Given the description of an element on the screen output the (x, y) to click on. 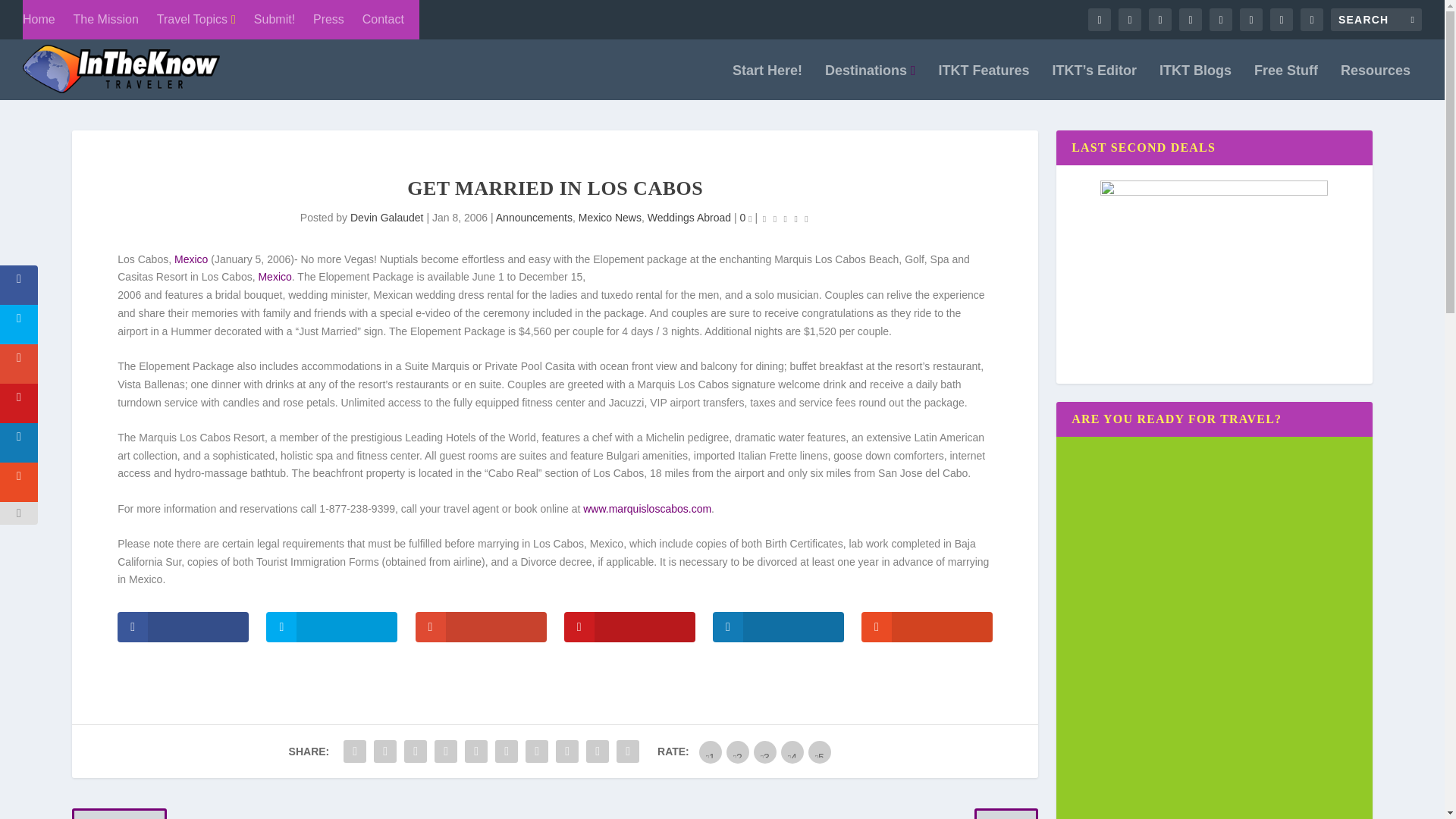
Destinations (870, 81)
Share "Get Married in Los Cabos" via Stumbleupon (566, 751)
Submit! (274, 19)
Start Here! (767, 81)
Share "Get Married in Los Cabos" via Pinterest (476, 751)
Posts by Devin Galaudet (386, 217)
Share "Get Married in Los Cabos" via LinkedIn (506, 751)
Share "Get Married in Los Cabos" via Twitter (384, 751)
Share "Get Married in Los Cabos" via Tumblr (445, 751)
The Mission (106, 19)
